Given the description of an element on the screen output the (x, y) to click on. 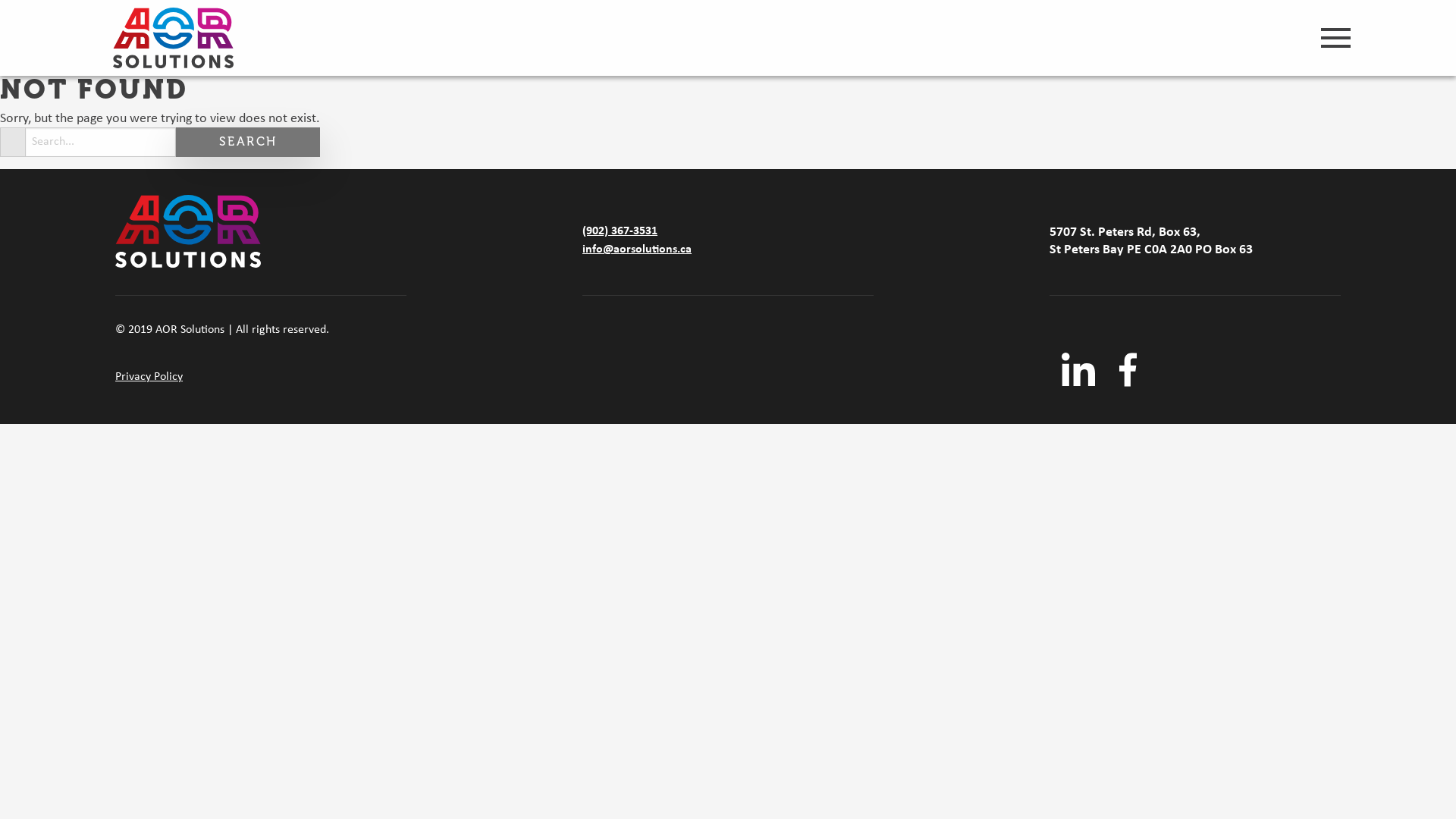
info@aorsolutions.ca Element type: text (636, 249)
Search Element type: text (247, 141)
(902) 367-3531 Element type: text (619, 231)
Privacy Policy Element type: text (148, 376)
